Given the description of an element on the screen output the (x, y) to click on. 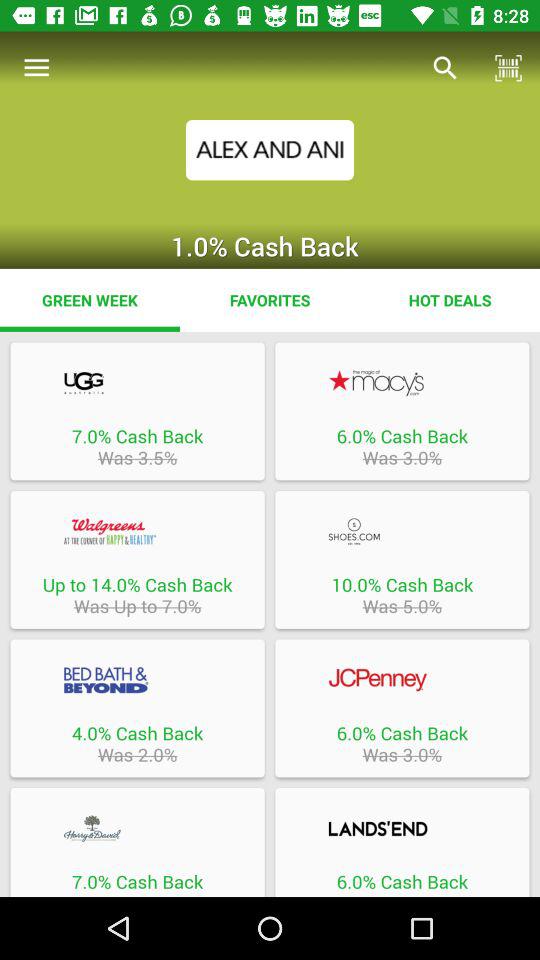
select item next to green week (270, 299)
